Given the description of an element on the screen output the (x, y) to click on. 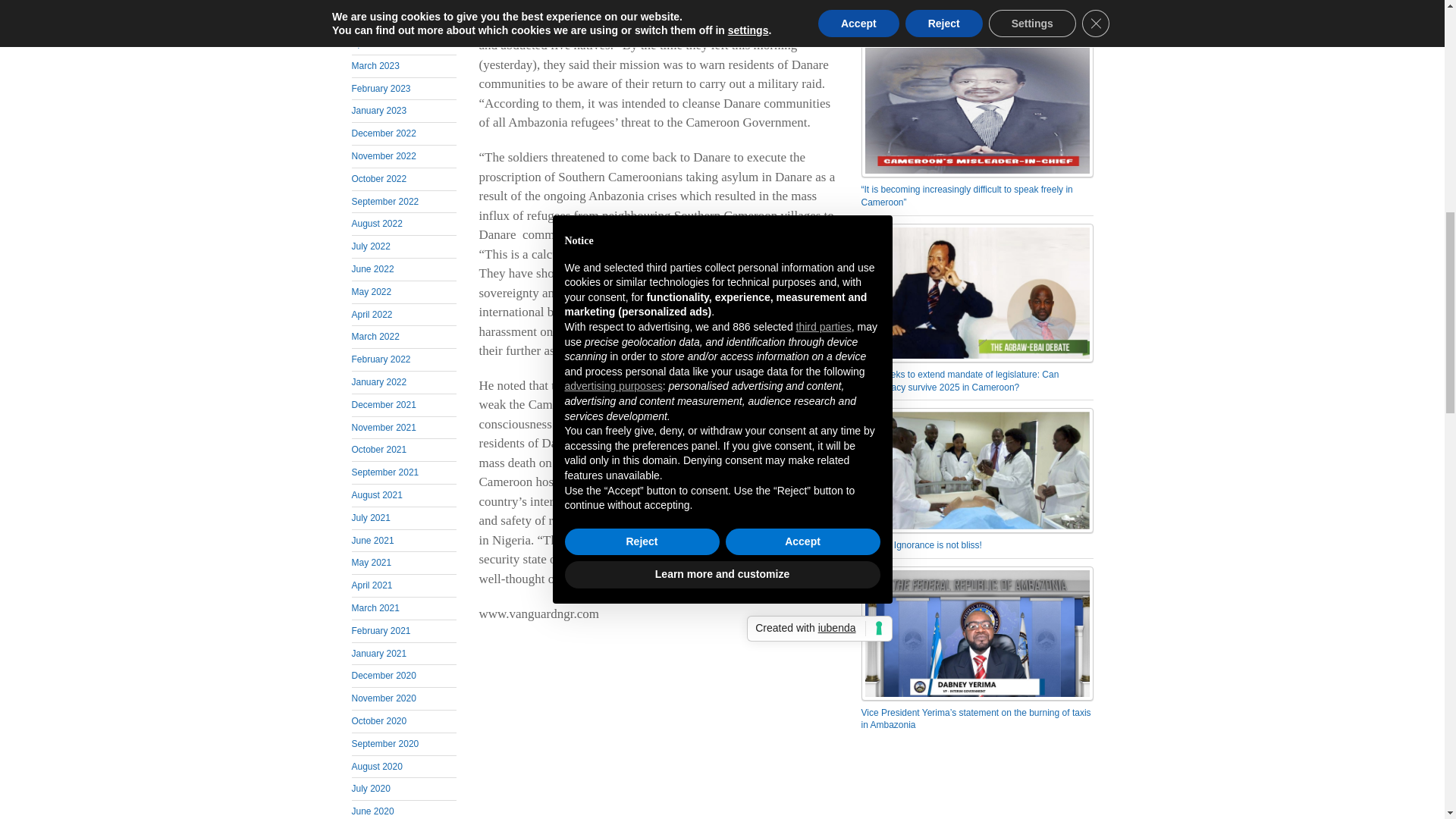
Agbaw-Ebai Debate (977, 292)
Fibroid (977, 470)
Dabney Yerima VP (977, 633)
Biya in 2020 (977, 109)
